Given the description of an element on the screen output the (x, y) to click on. 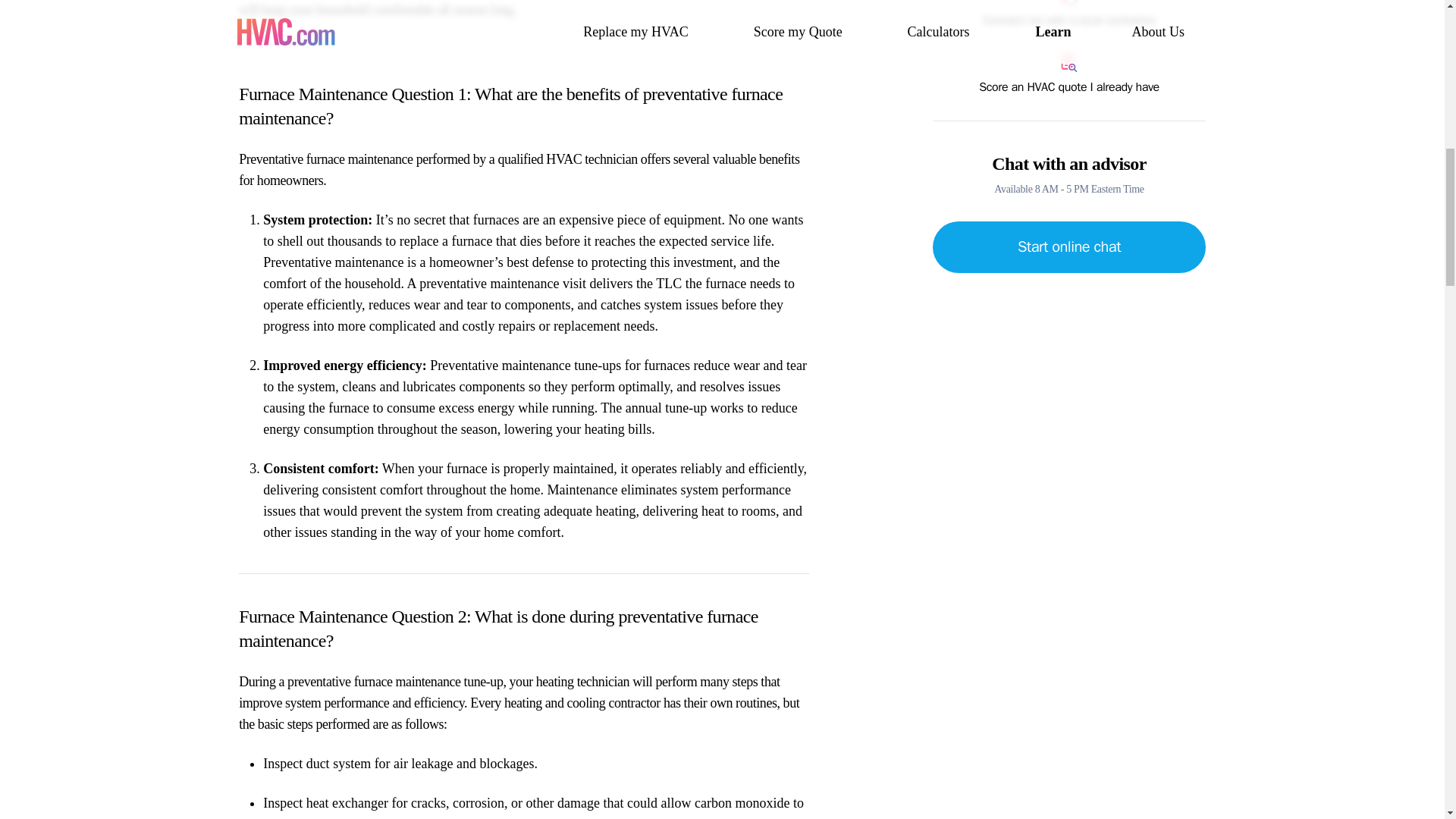
Start online chat (1069, 246)
Score an HVAC quote I already have (1069, 75)
Connect me with a local contractor (1069, 14)
